Given the description of an element on the screen output the (x, y) to click on. 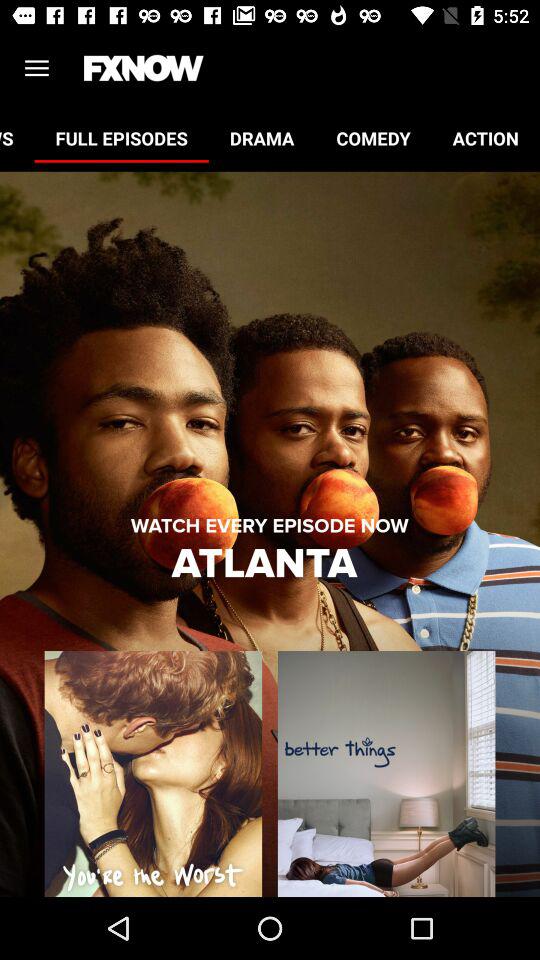
jump to the full episodes item (121, 138)
